Given the description of an element on the screen output the (x, y) to click on. 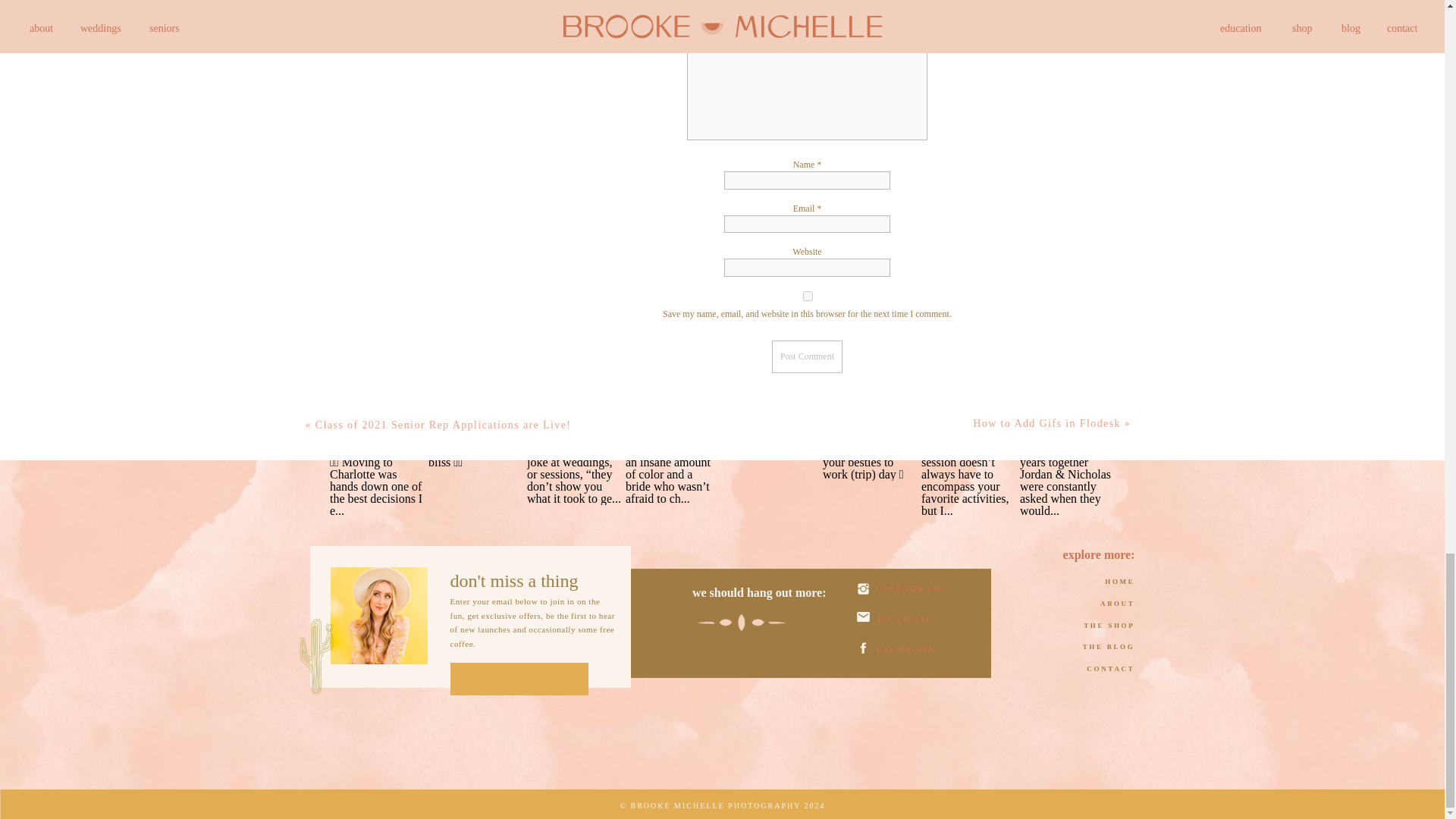
yes (807, 296)
Post Comment (807, 356)
Post Comment (807, 356)
